Given the description of an element on the screen output the (x, y) to click on. 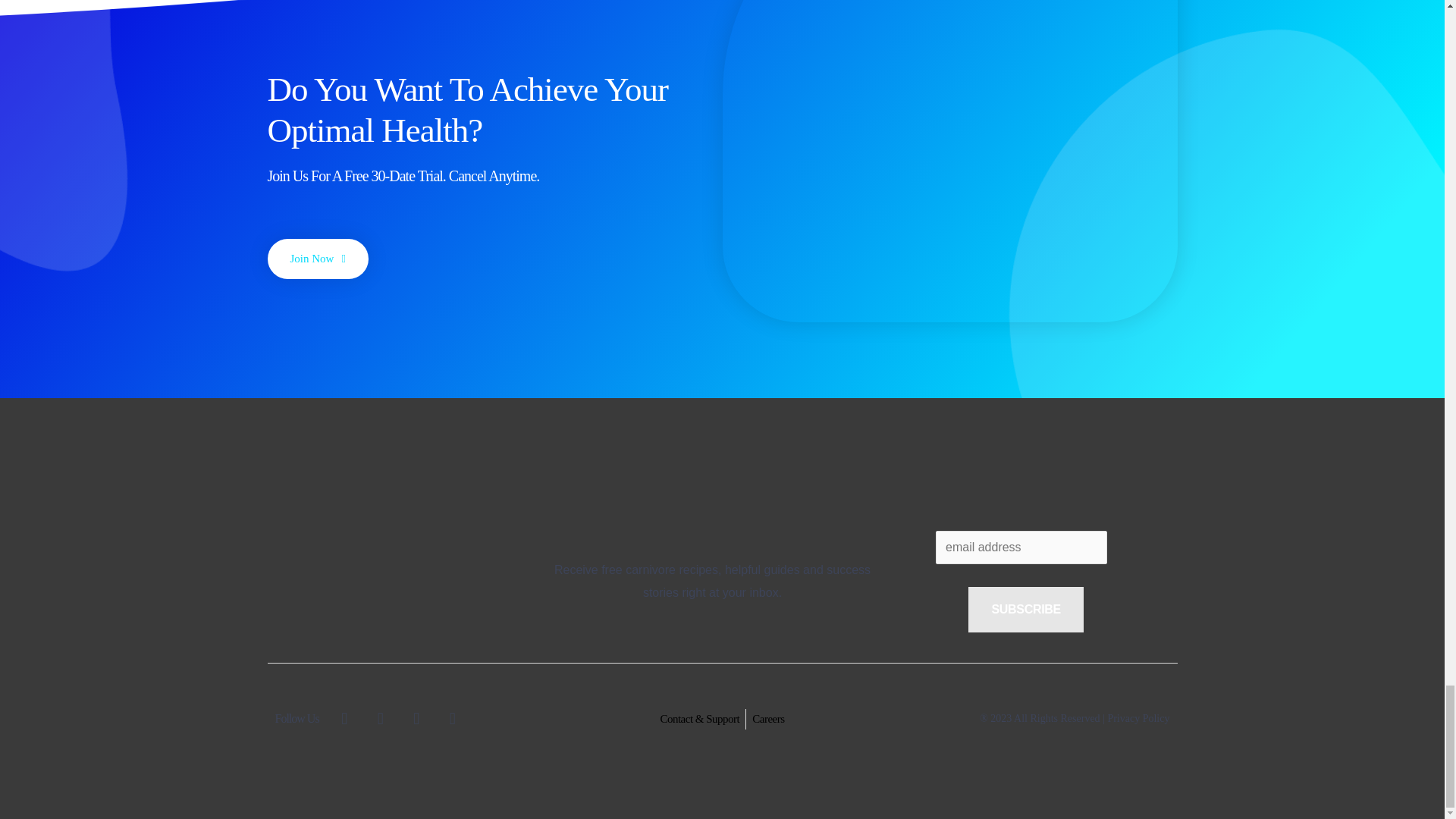
Subscribe (1025, 609)
